Given the description of an element on the screen output the (x, y) to click on. 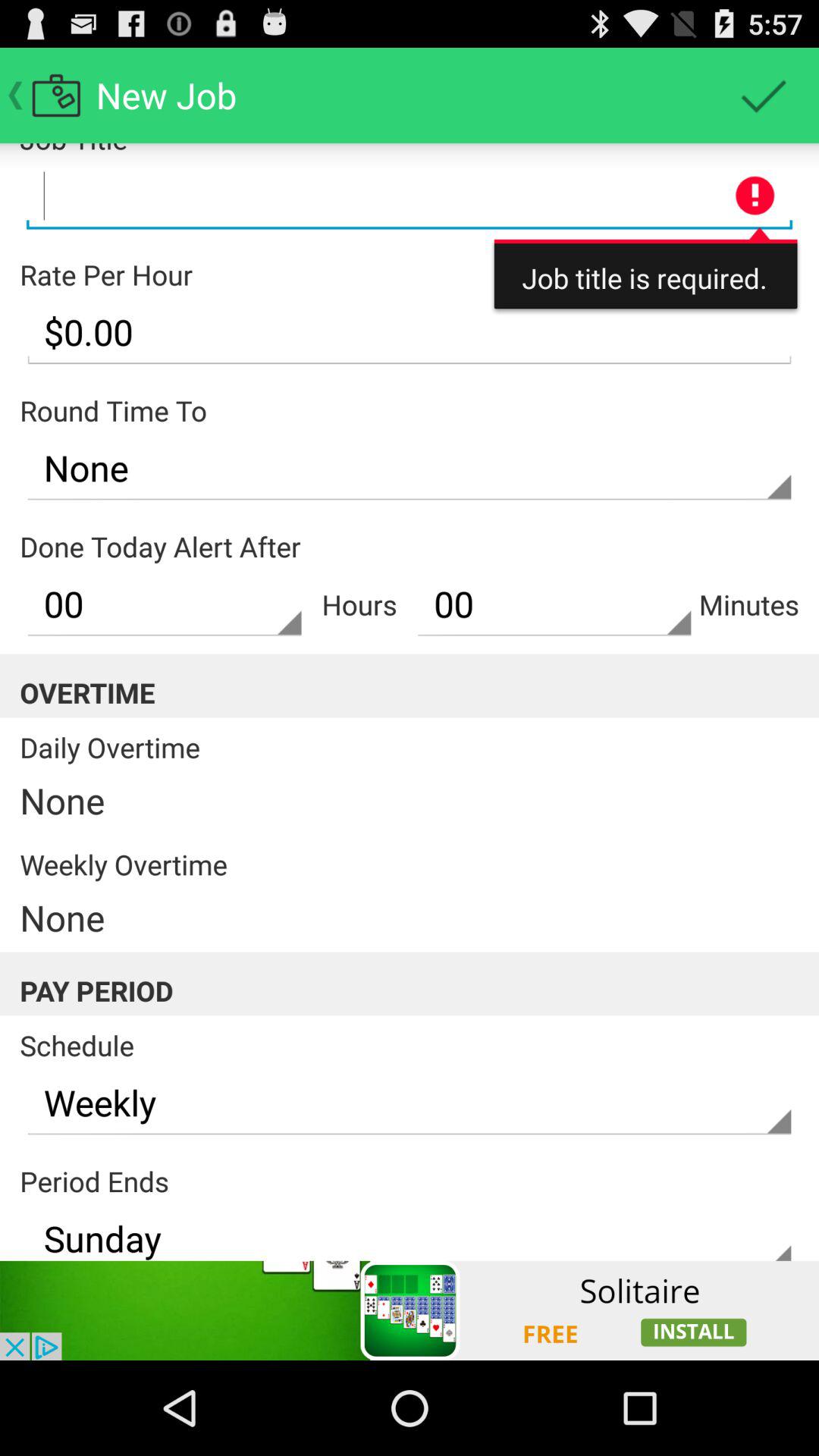
click on the advertisement (409, 1310)
